Given the description of an element on the screen output the (x, y) to click on. 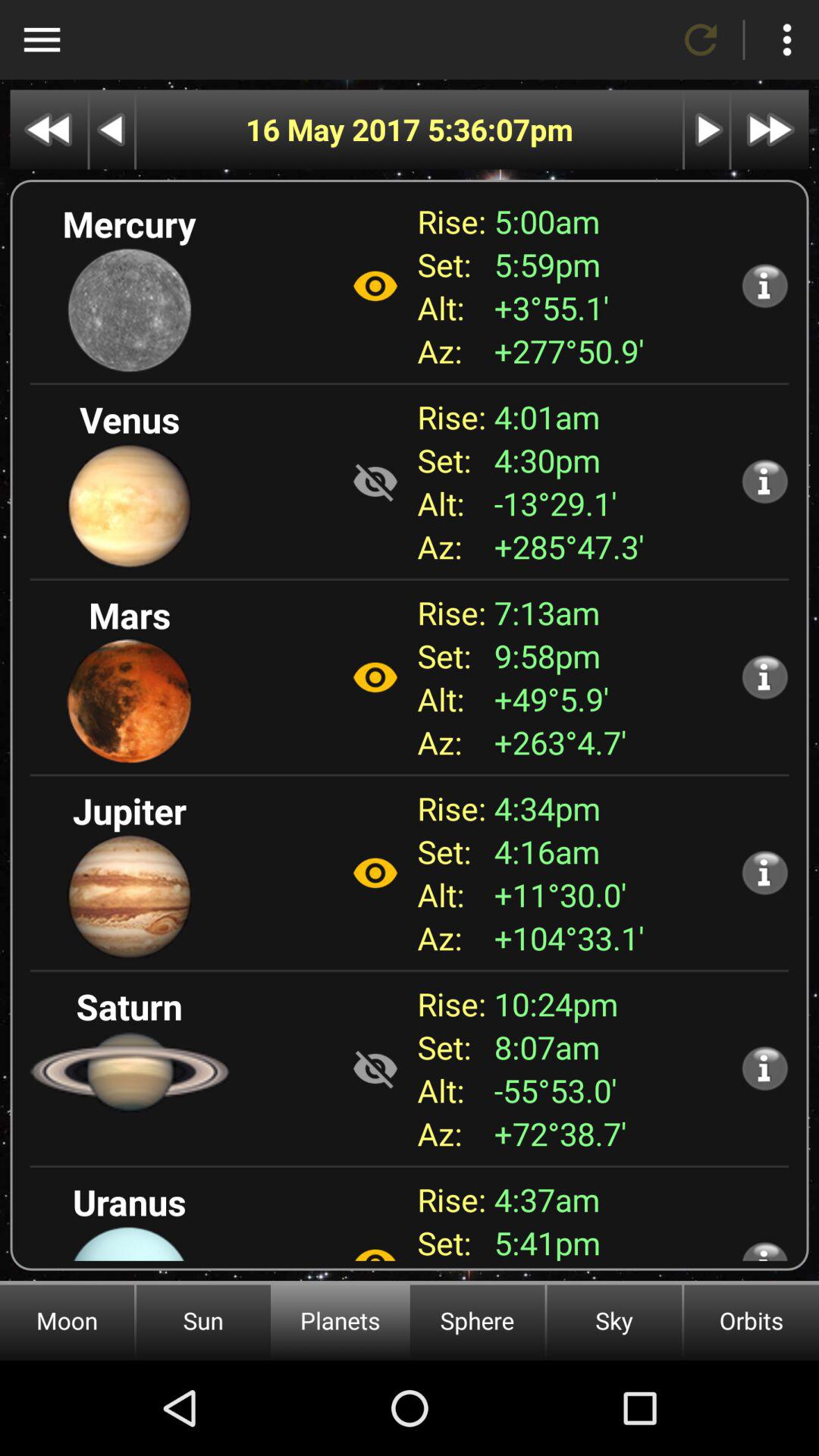
list the menu option (787, 39)
